Given the description of an element on the screen output the (x, y) to click on. 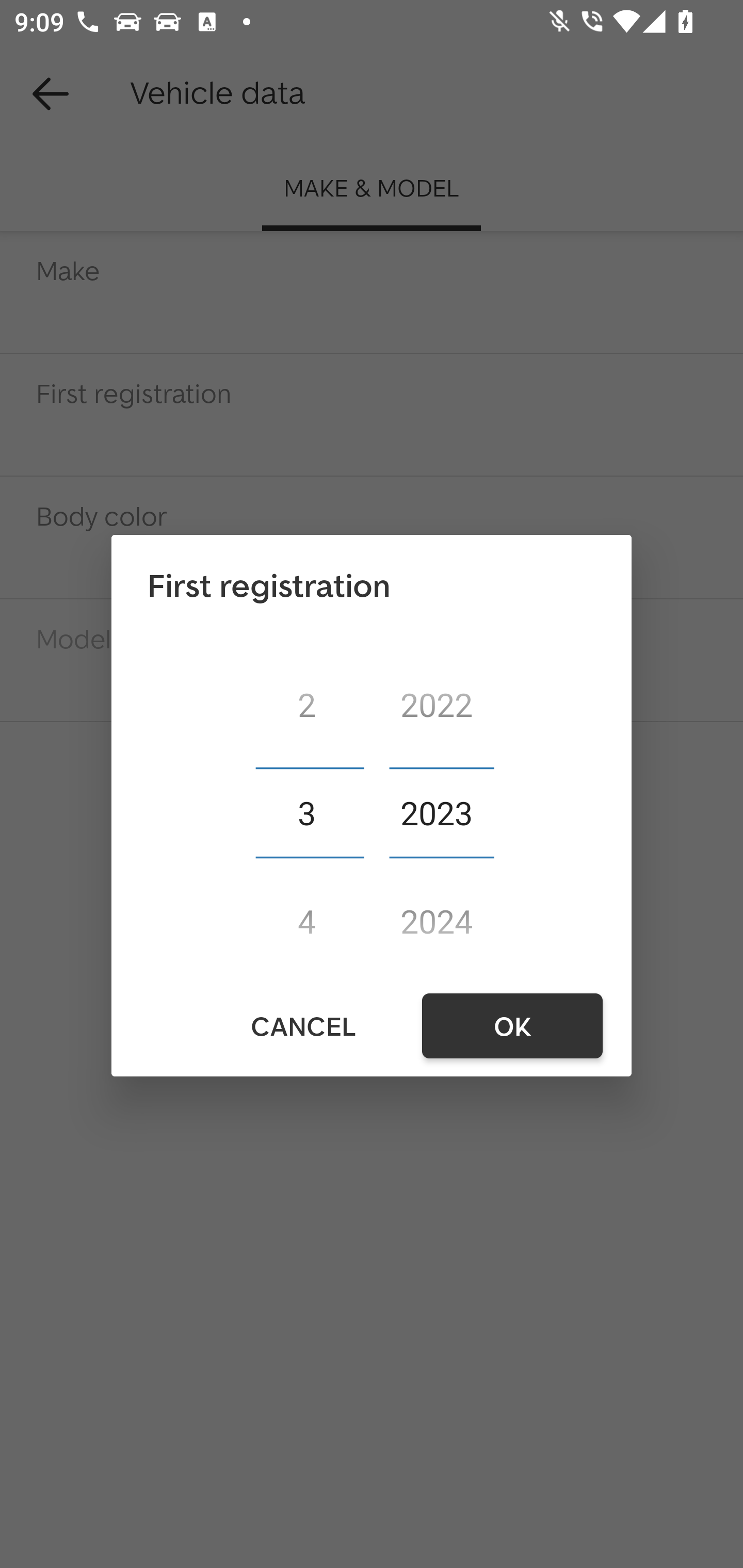
CANCEL (302, 1026)
OK (512, 1026)
